Given the description of an element on the screen output the (x, y) to click on. 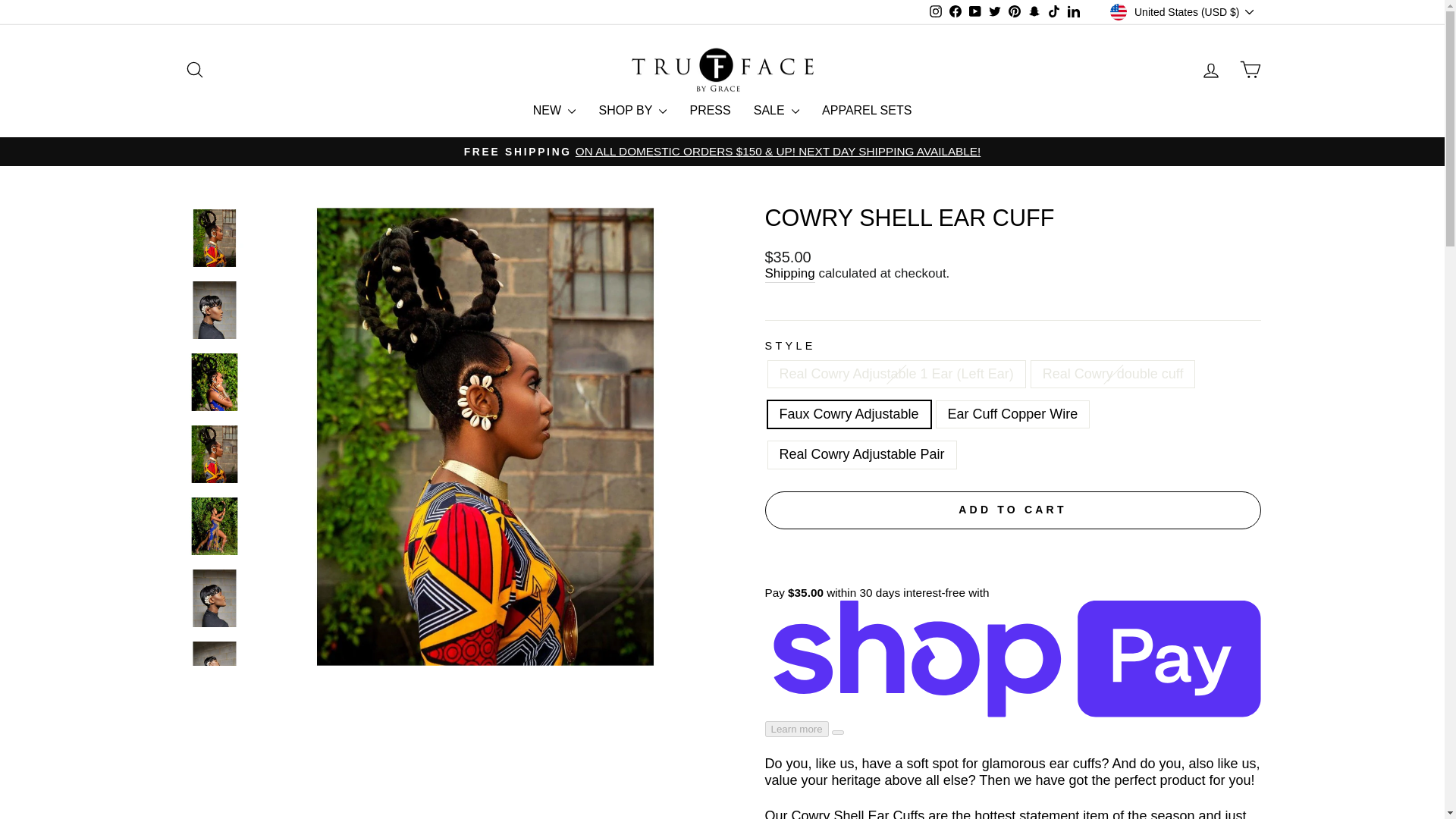
instagram (936, 10)
twitter (994, 10)
Trufacebygrace on Pinterest (1014, 11)
Trufacebygrace on TikTok (1053, 11)
Trufacebygrace on LinkedIn (1073, 11)
Trufacebygrace on Snapchat (1034, 11)
Trufacebygrace on YouTube (975, 11)
